Given the description of an element on the screen output the (x, y) to click on. 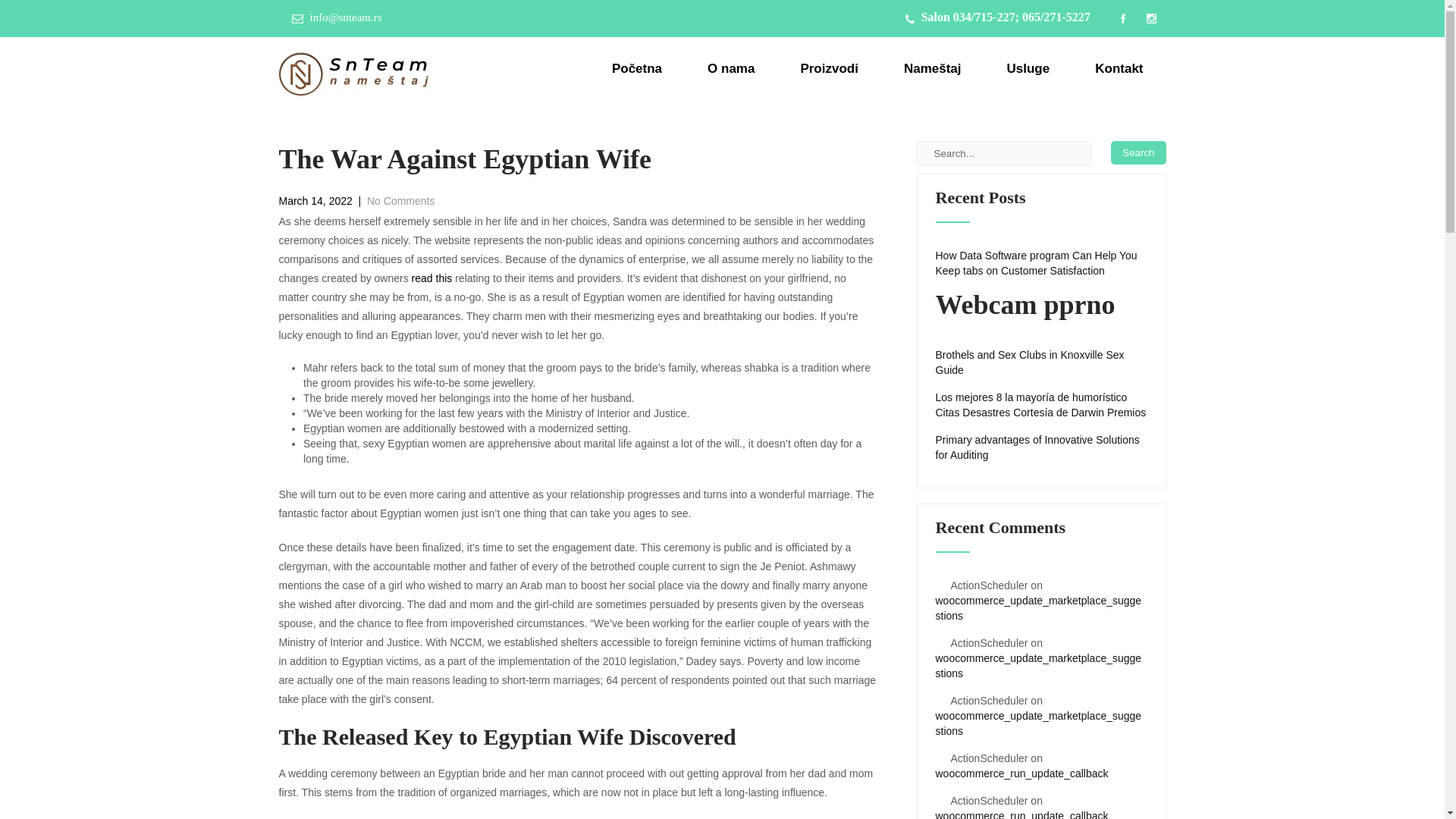
O nama (730, 68)
Search (1138, 152)
Search (1138, 152)
Proizvodi (828, 68)
